Given the description of an element on the screen output the (x, y) to click on. 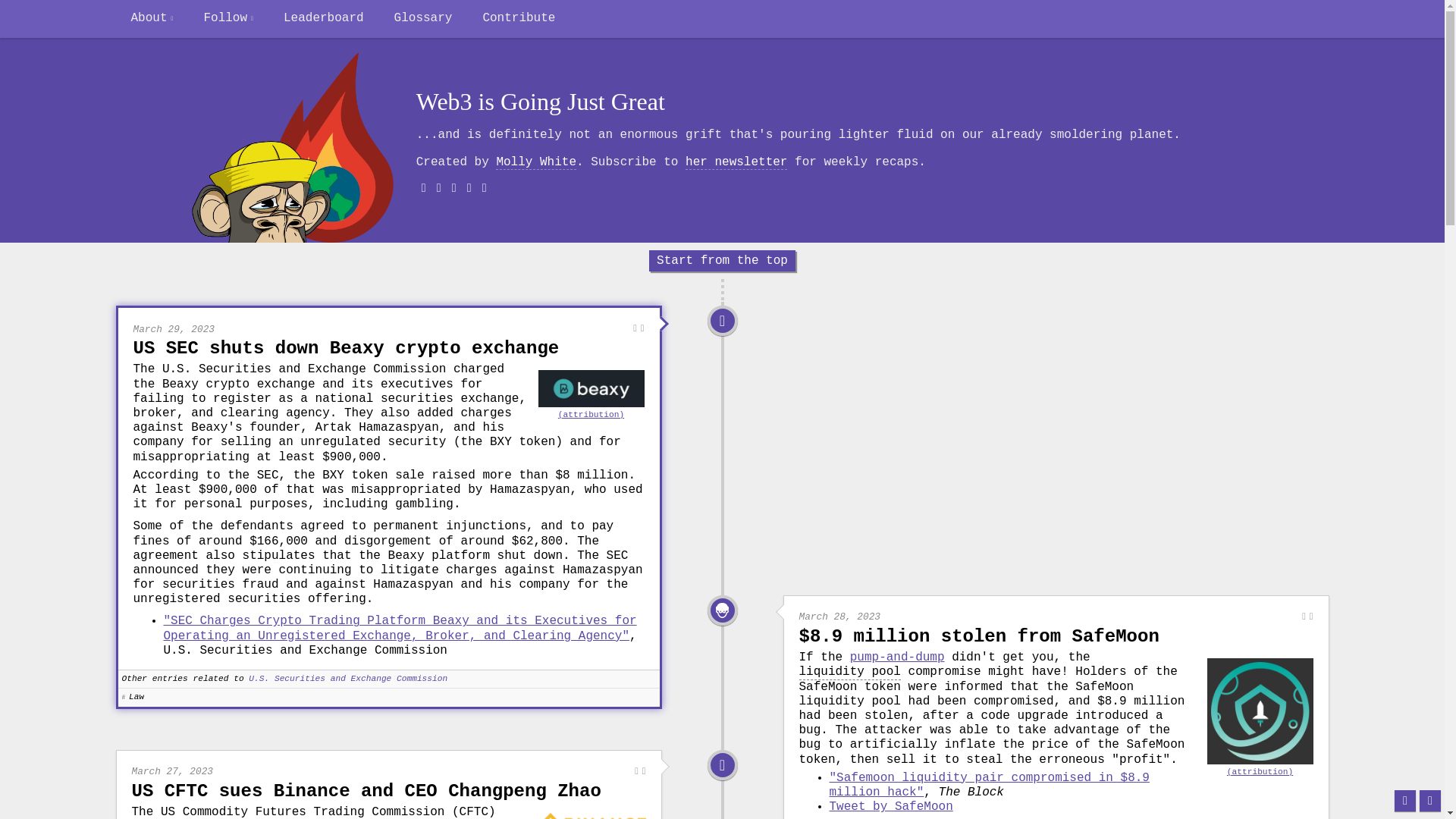
liquidity pool (850, 672)
Contribute (518, 18)
Law (721, 320)
Glossary (422, 18)
Molly White (536, 162)
Tweet by SafeMoon (891, 807)
Hack or scam (721, 610)
pump-and-dump (897, 657)
U.S. Securities and Exchange Commission (347, 678)
US SEC shuts down Beaxy crypto exchange (346, 348)
US CFTC sues Binance and CEO Changpeng Zhao (366, 791)
her newsletter (736, 162)
Leaderboard (322, 18)
